Given the description of an element on the screen output the (x, y) to click on. 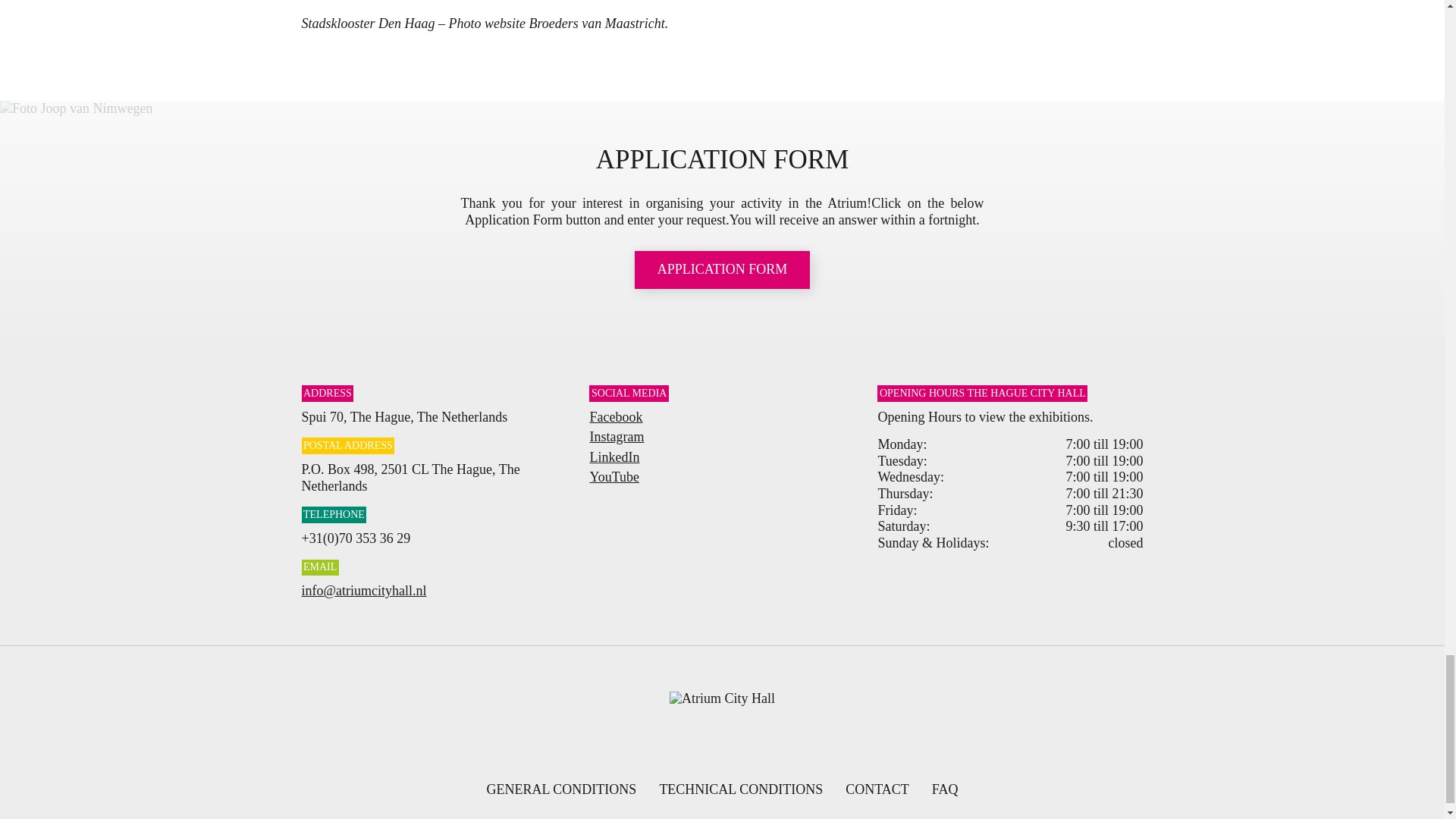
GENERAL CONDITIONS (561, 789)
APPLICATION FORM (722, 269)
CONTACT (876, 789)
Instagram (616, 436)
TECHNICAL CONDITIONS (740, 789)
YouTube (614, 476)
Facebook (615, 417)
LinkedIn (614, 457)
FAQ (944, 789)
